Given the description of an element on the screen output the (x, y) to click on. 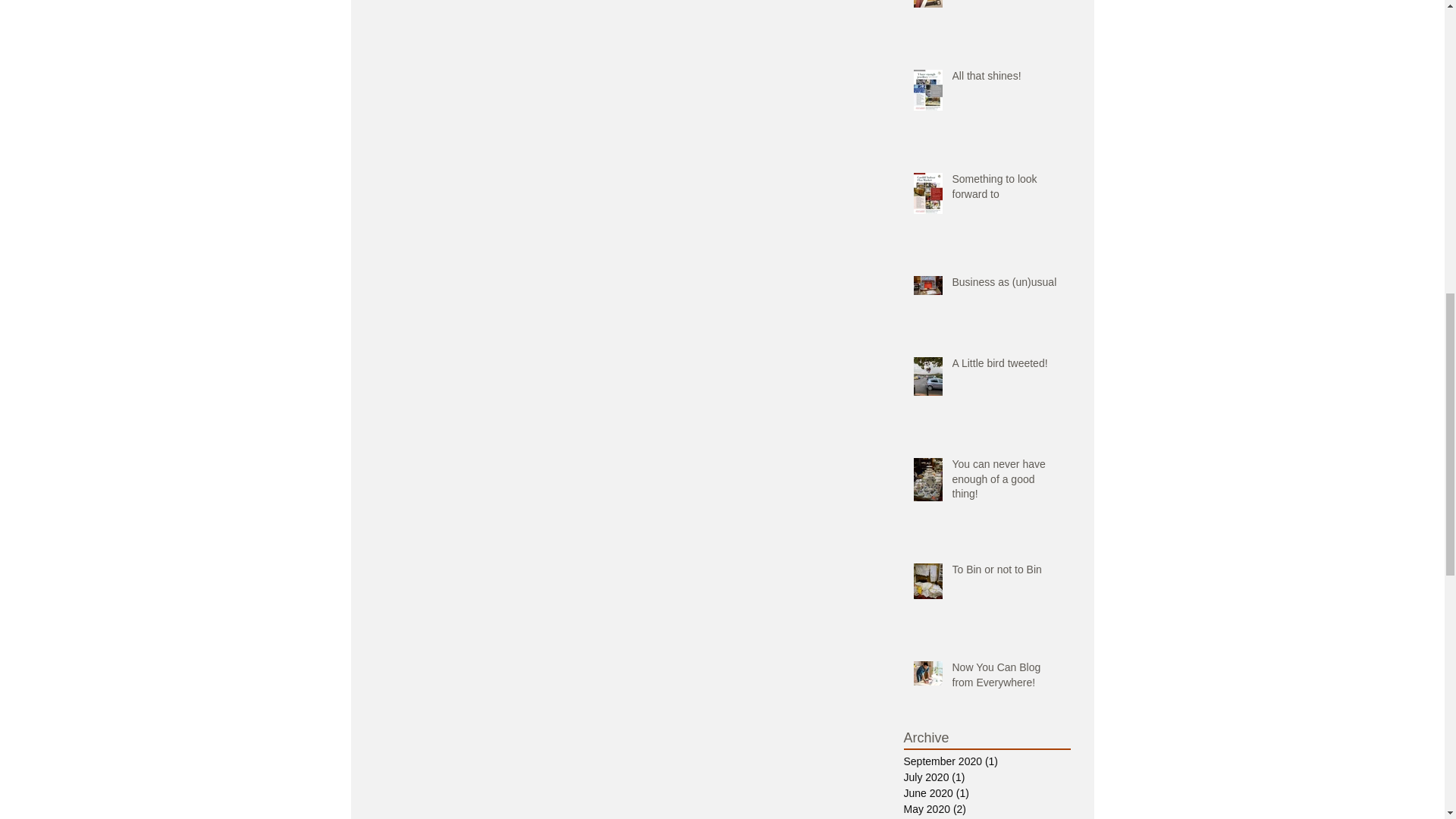
Something to look forward to (1006, 189)
All that shines! (1006, 79)
A Little bird tweeted! (1006, 366)
To Bin or not to Bin (1006, 572)
Notes from captivity! (1006, 2)
Now You Can Blog from Everywhere! (1006, 678)
You can never have enough of a good thing! (1006, 482)
